Given the description of an element on the screen output the (x, y) to click on. 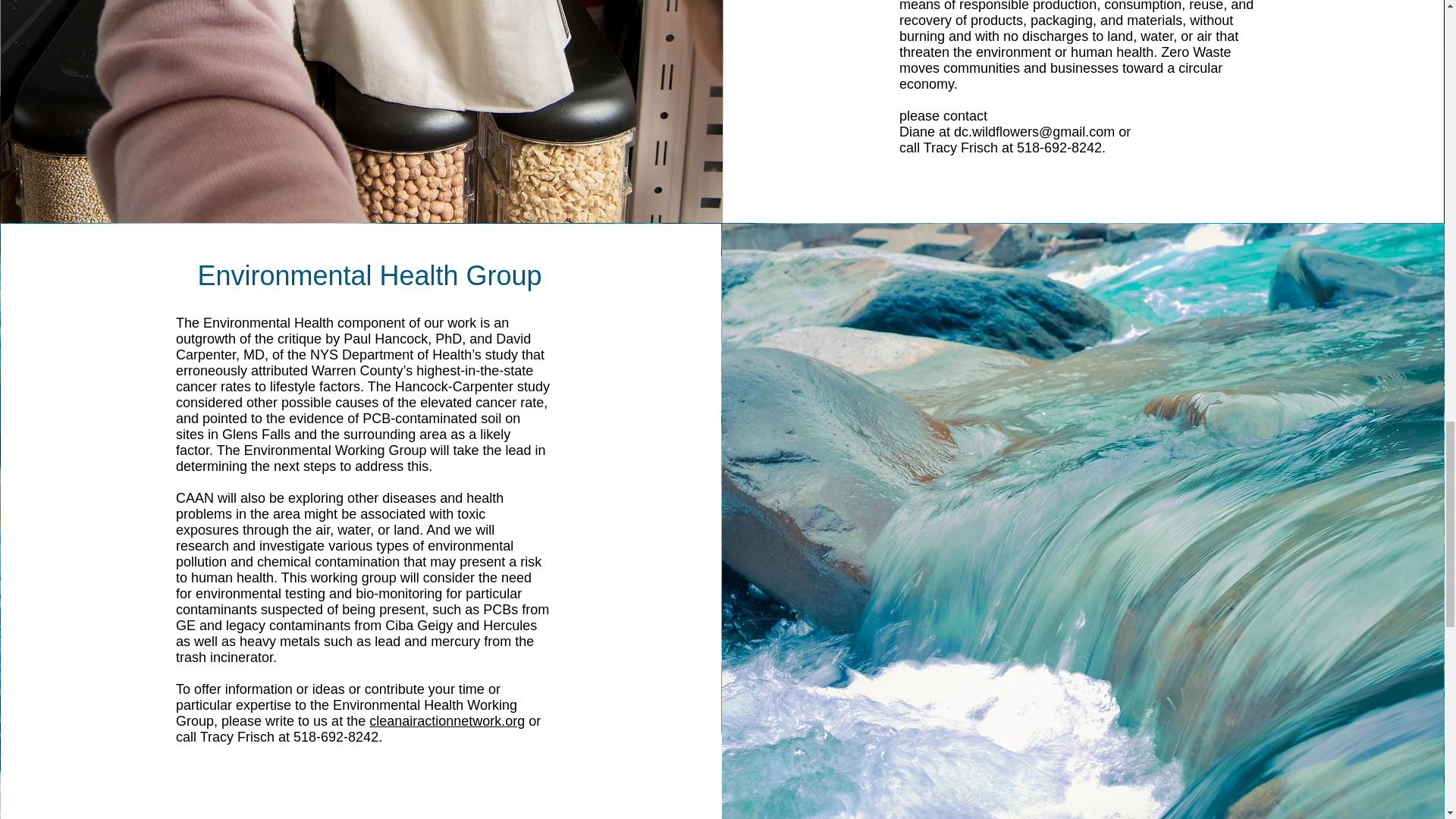
cleanairactionnetwork.org (446, 720)
